Given the description of an element on the screen output the (x, y) to click on. 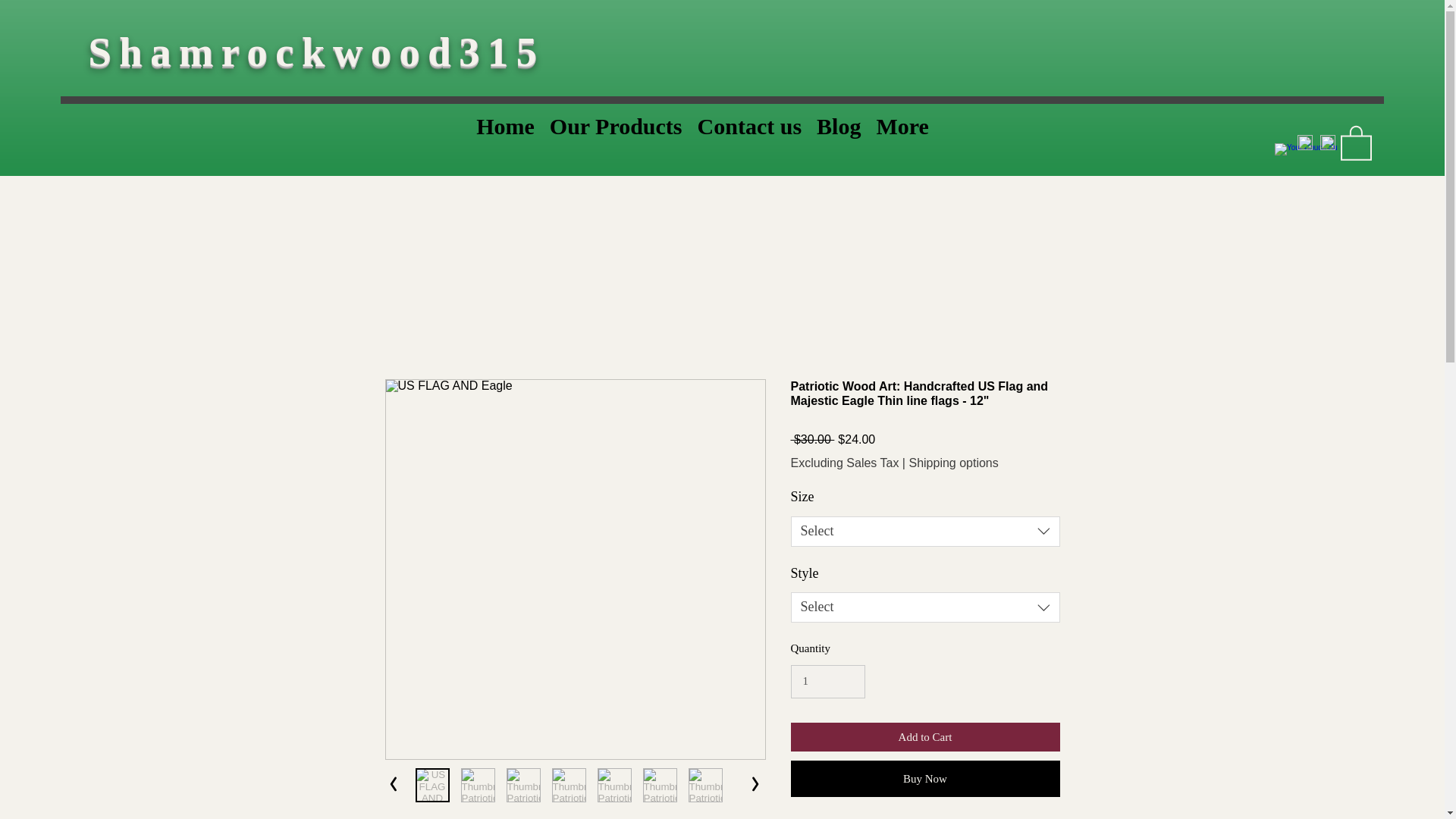
Shipping options (952, 463)
Shamrockwood315  (324, 52)
Buy Now (924, 778)
Select (924, 607)
Home (504, 134)
Blog (838, 134)
Our Products (615, 134)
Select (924, 531)
Add to Cart (924, 737)
Contact us (749, 134)
